Given the description of an element on the screen output the (x, y) to click on. 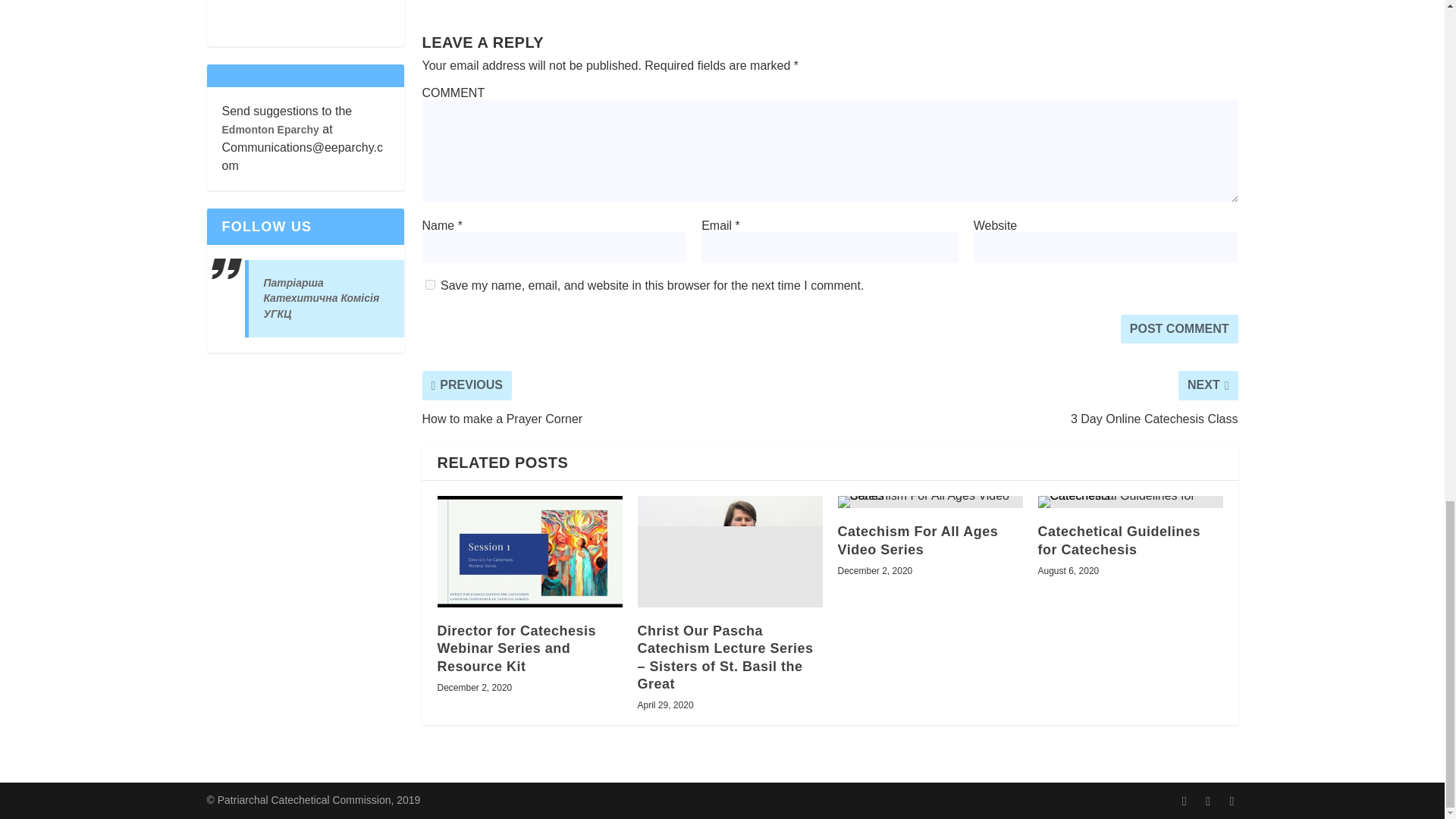
yes (429, 284)
Director for Catechesis Webinar Series and Resource Kit (528, 551)
Catechism For All Ages Video Series (929, 501)
Post Comment (1180, 328)
Catechetical Guidelines for Catechesis (1129, 501)
